Given the description of an element on the screen output the (x, y) to click on. 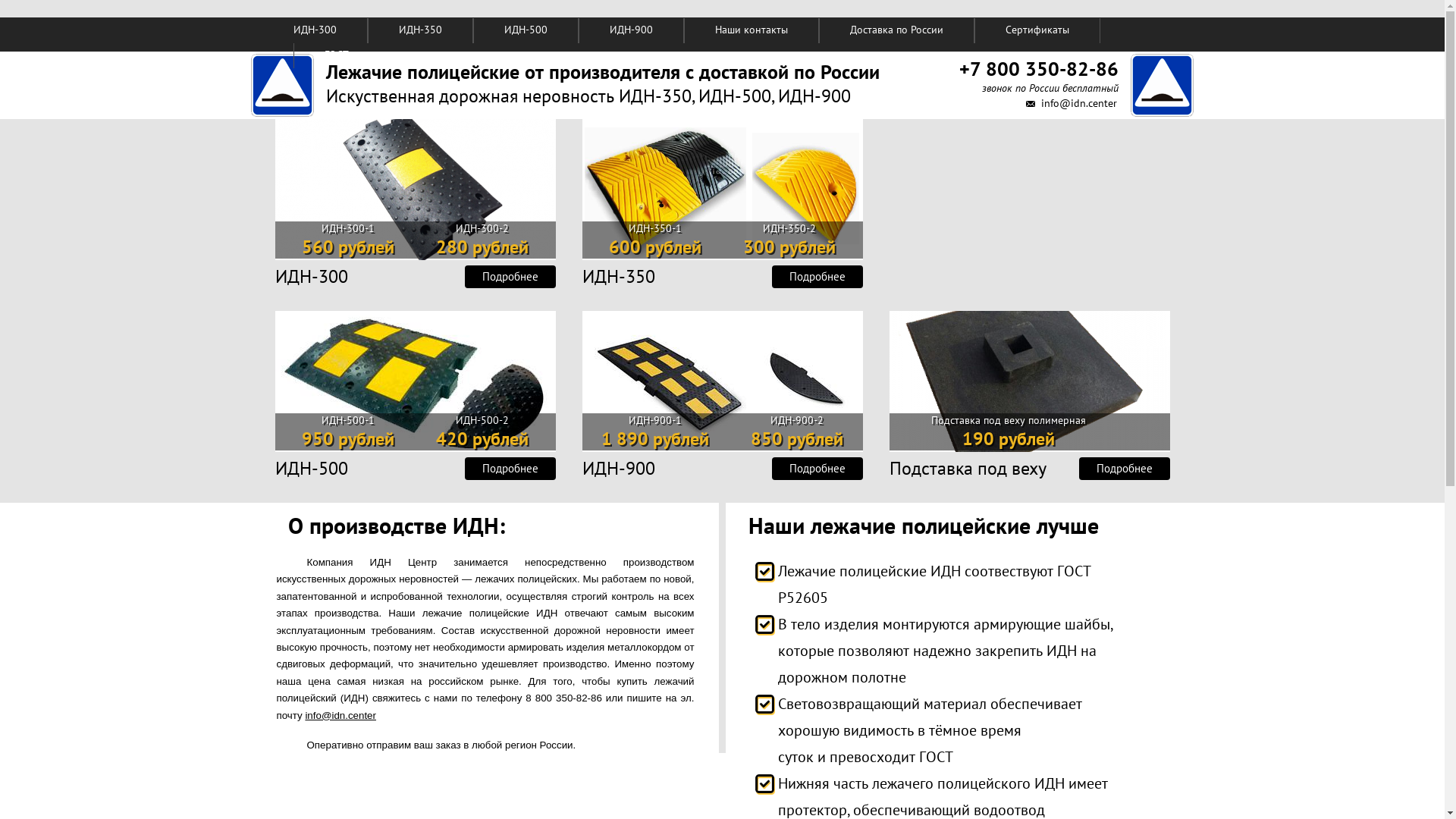
info@idn.center Element type: text (1079, 102)
info@idn.center Element type: text (340, 715)
